Given the description of an element on the screen output the (x, y) to click on. 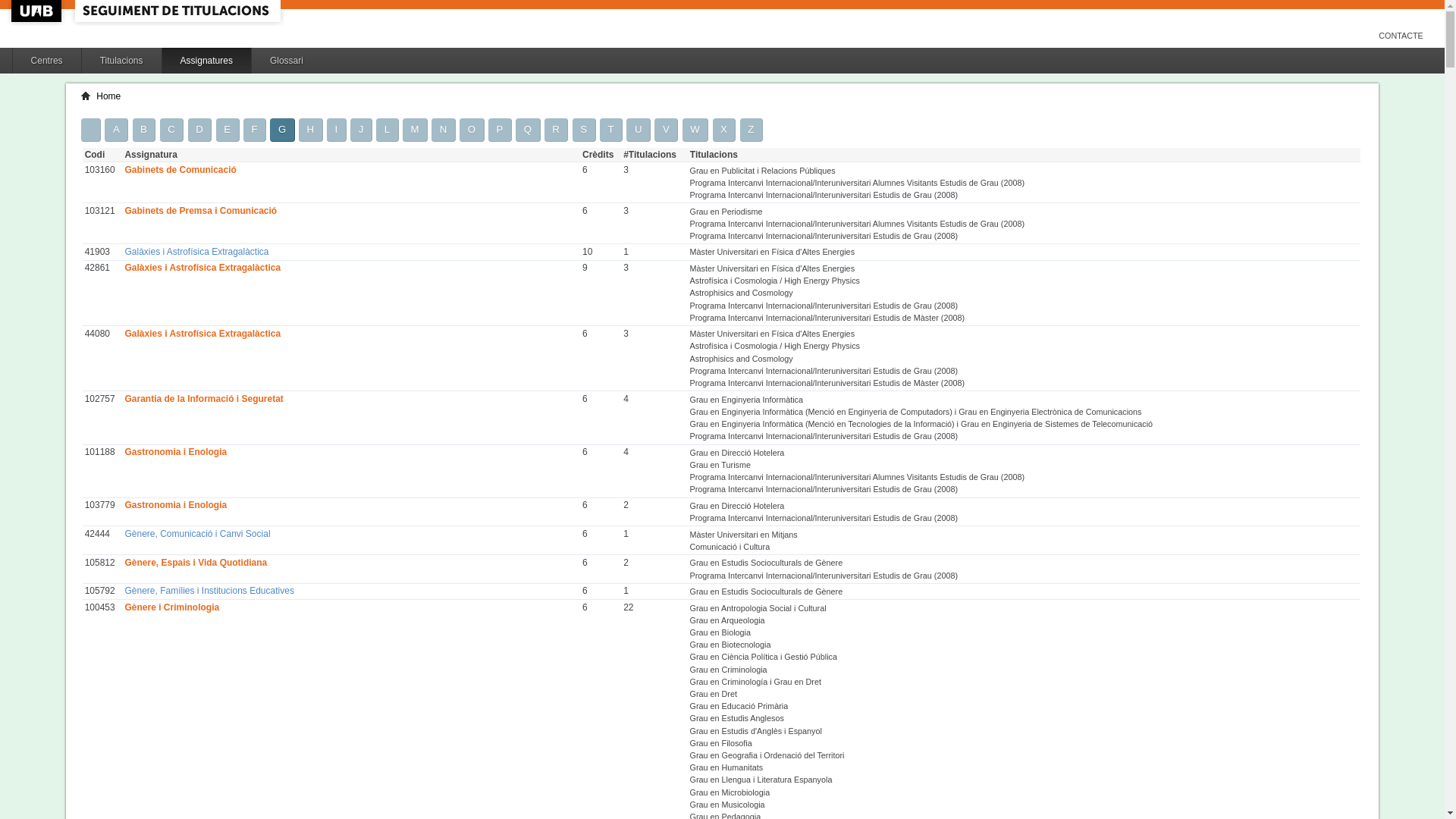
W Element type: text (695, 129)
X Element type: text (724, 129)
Gastronomia i Enologia Element type: text (175, 504)
T Element type: text (610, 129)
Z Element type: text (751, 129)
Home Element type: text (108, 96)
A Element type: text (116, 129)
M Element type: text (414, 129)
CONTACTE Element type: text (1400, 35)
J Element type: text (361, 129)
  Element type: text (90, 129)
D Element type: text (200, 129)
Centres Element type: text (46, 60)
Q Element type: text (527, 129)
U Element type: text (638, 129)
N Element type: text (443, 129)
H Element type: text (310, 129)
B Element type: text (144, 129)
V Element type: text (665, 129)
Assignatures Element type: text (206, 60)
O Element type: text (471, 129)
S Element type: text (584, 129)
L Element type: text (387, 129)
Glossari Element type: text (286, 60)
P Element type: text (499, 129)
E Element type: text (227, 129)
UAB Element type: text (37, 10)
C Element type: text (172, 129)
I Element type: text (336, 129)
R Element type: text (556, 129)
Gastronomia i Enologia Element type: text (175, 451)
Titulacions Element type: text (121, 60)
G Element type: text (281, 129)
F Element type: text (254, 129)
